Given the description of an element on the screen output the (x, y) to click on. 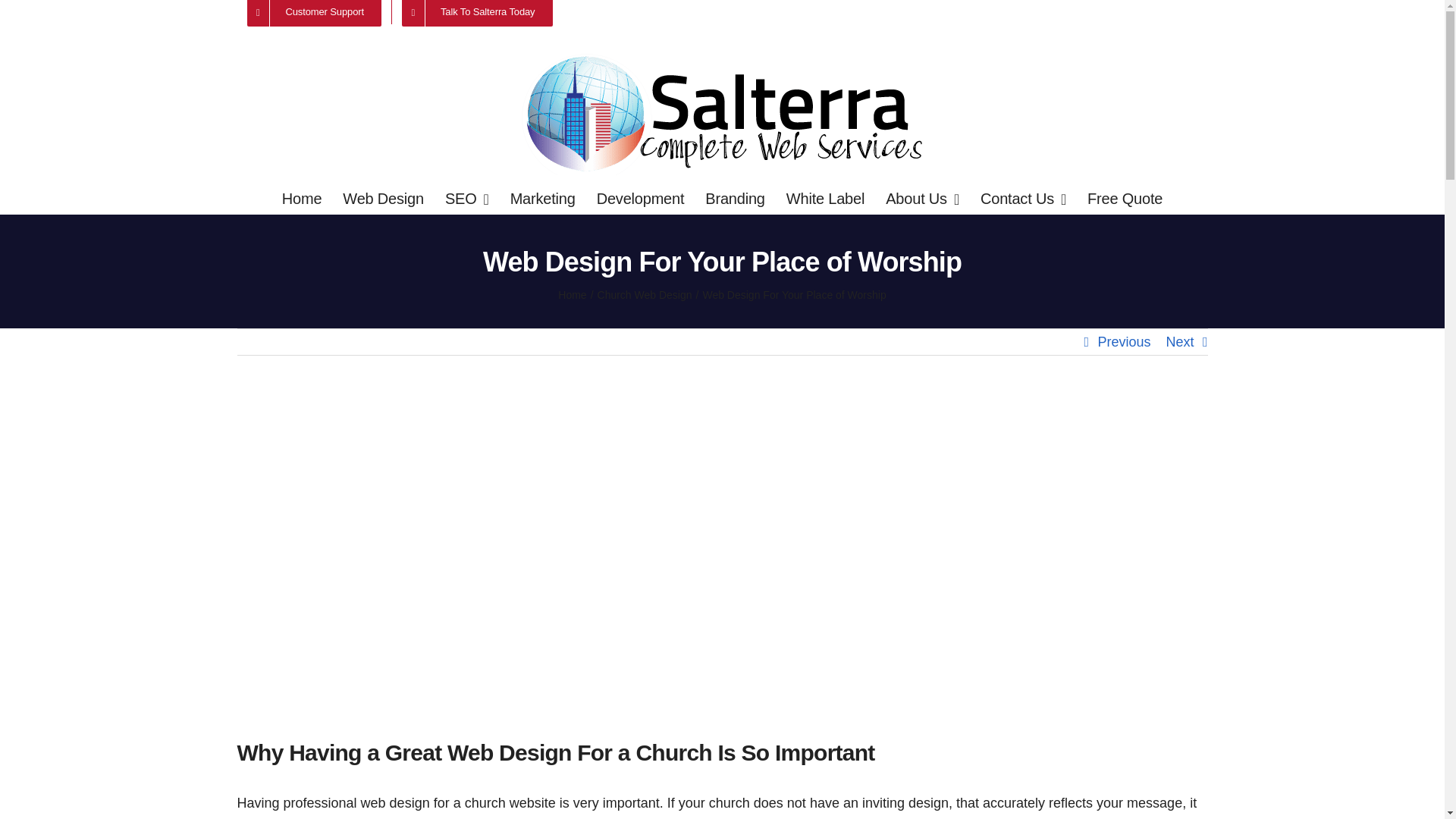
Branding (734, 198)
Home (301, 198)
Customer Support (312, 12)
Marketing (543, 198)
SEO (467, 198)
White Label (825, 198)
Free Quote (1124, 198)
Web Design (382, 198)
Talk To Salterra Today (476, 12)
Contact Us (1022, 198)
